Given the description of an element on the screen output the (x, y) to click on. 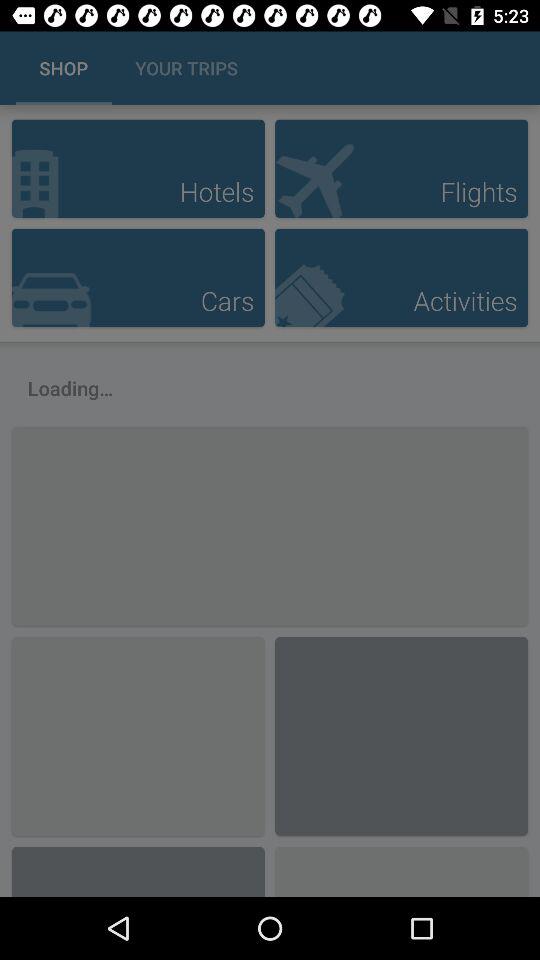
select cars option (138, 277)
